Given the description of an element on the screen output the (x, y) to click on. 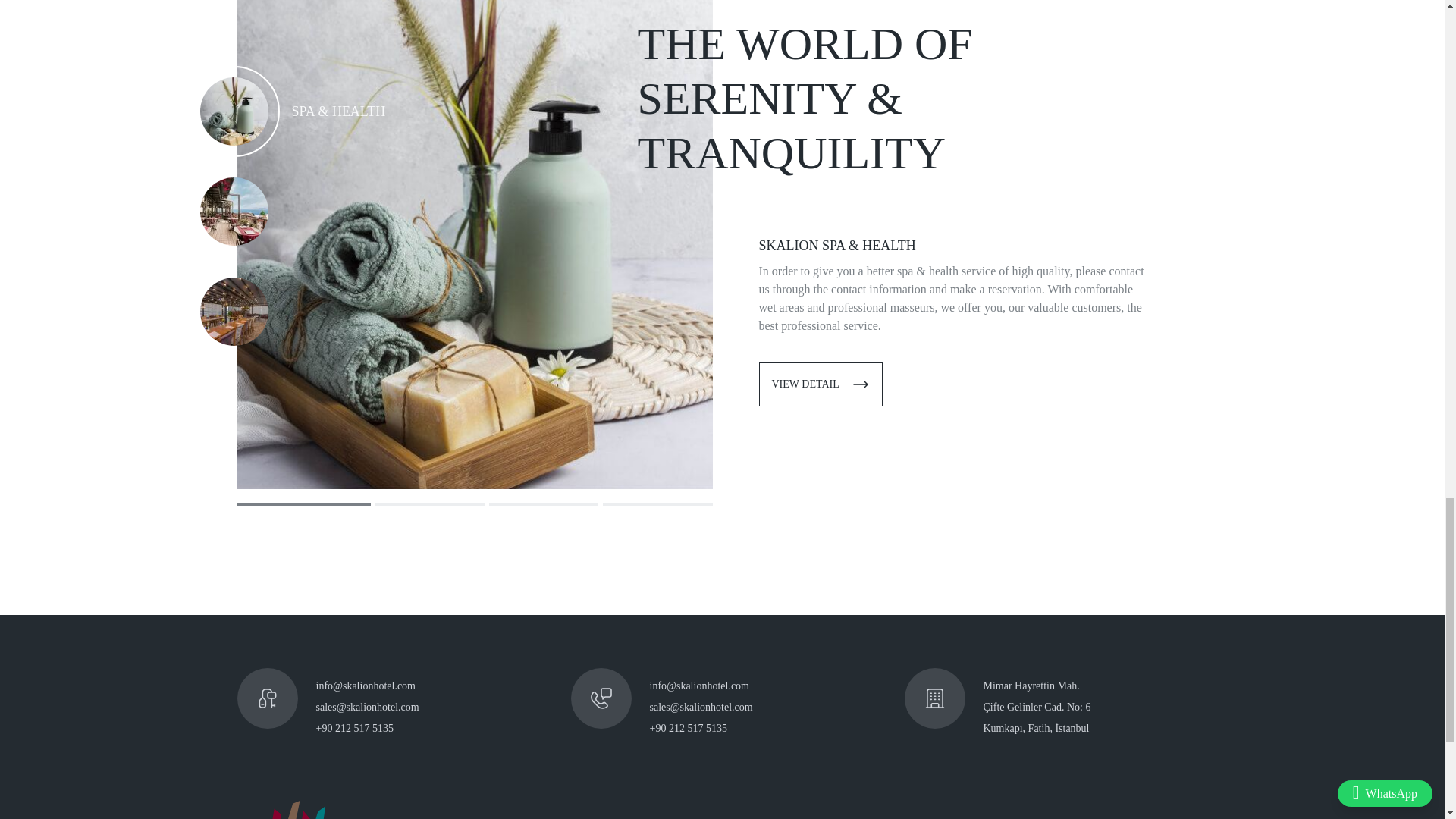
VIEW DETAIL (820, 384)
